Given the description of an element on the screen output the (x, y) to click on. 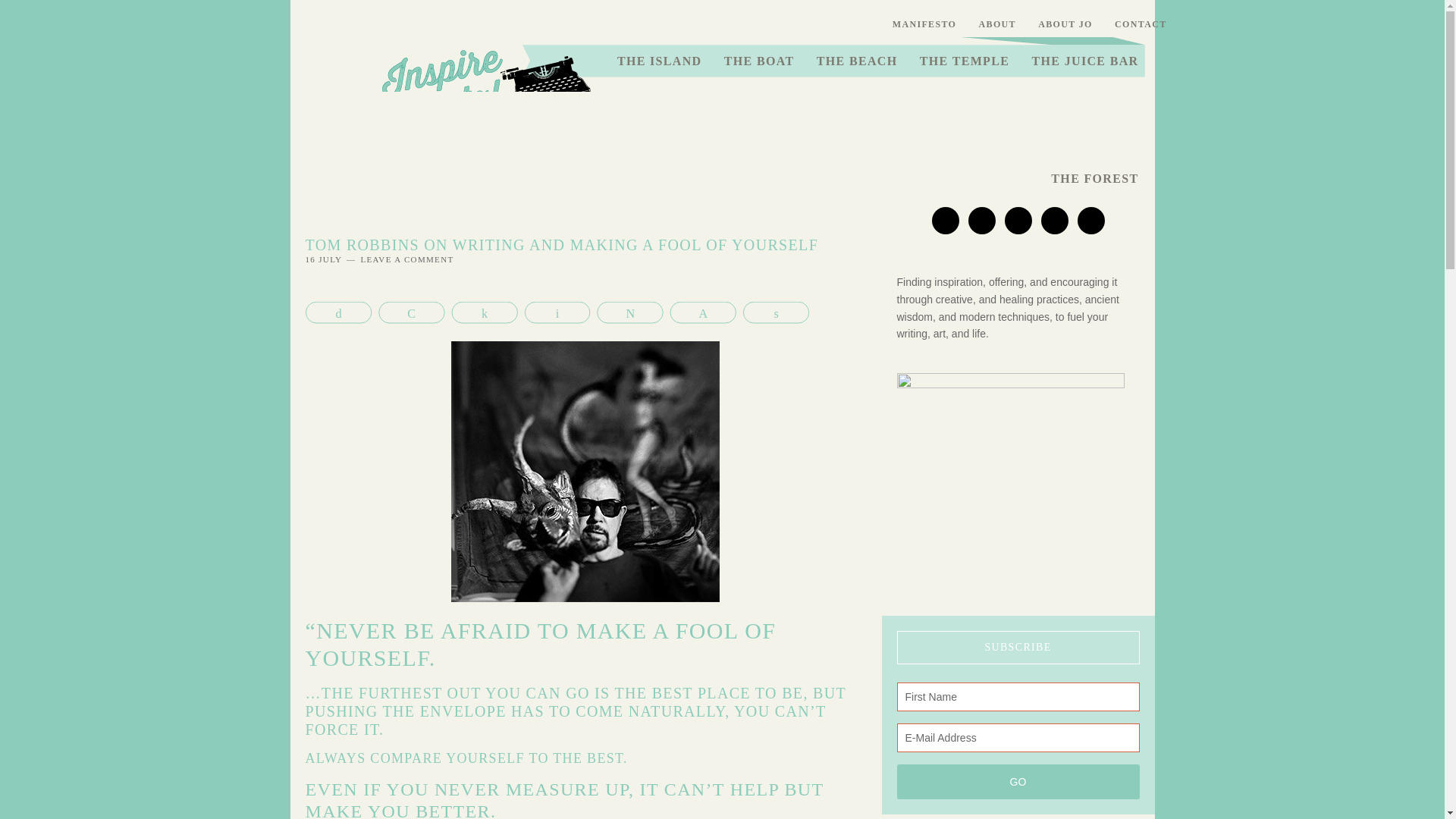
ABOUT JO (1064, 23)
Go (1017, 781)
CONTACT (1140, 23)
ABOUT (997, 23)
MANIFESTO (924, 23)
THE JUICE BAR (1085, 61)
THE FOREST (1094, 178)
THE BOAT (759, 61)
THE TEMPLE (964, 61)
THE ISLAND (659, 61)
